Given the description of an element on the screen output the (x, y) to click on. 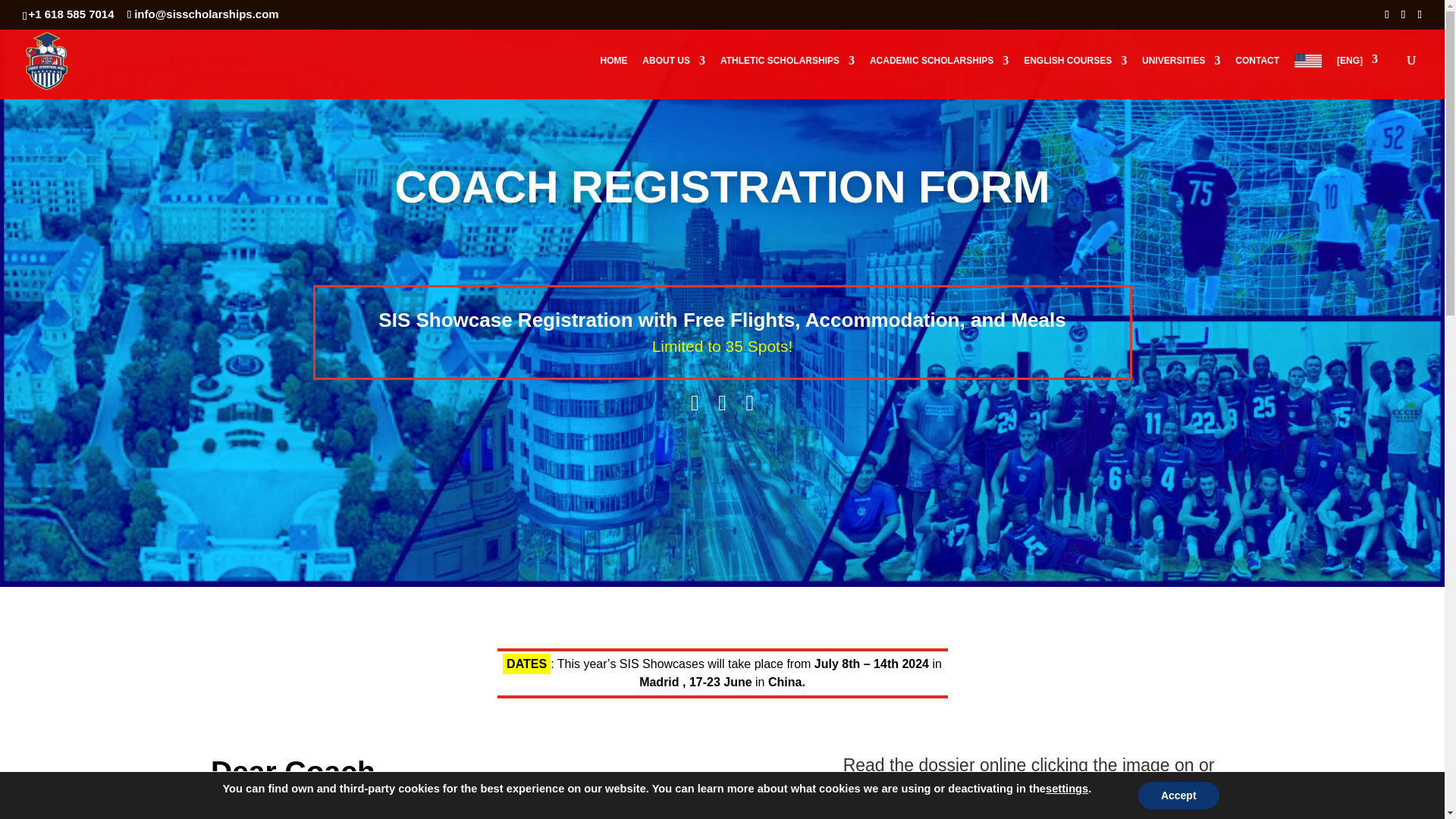
Madrid Soccer Showcase (1038, 816)
ABOUT US (673, 76)
UNIVERSITIES (1180, 76)
plane (694, 403)
cutlery (749, 403)
ATHLETIC SCHOLARSHIPS (787, 76)
CONTACT (1256, 76)
building (721, 403)
ACADEMIC SCHOLARSHIPS (939, 76)
ENGLISH COURSES (1074, 76)
